Given the description of an element on the screen output the (x, y) to click on. 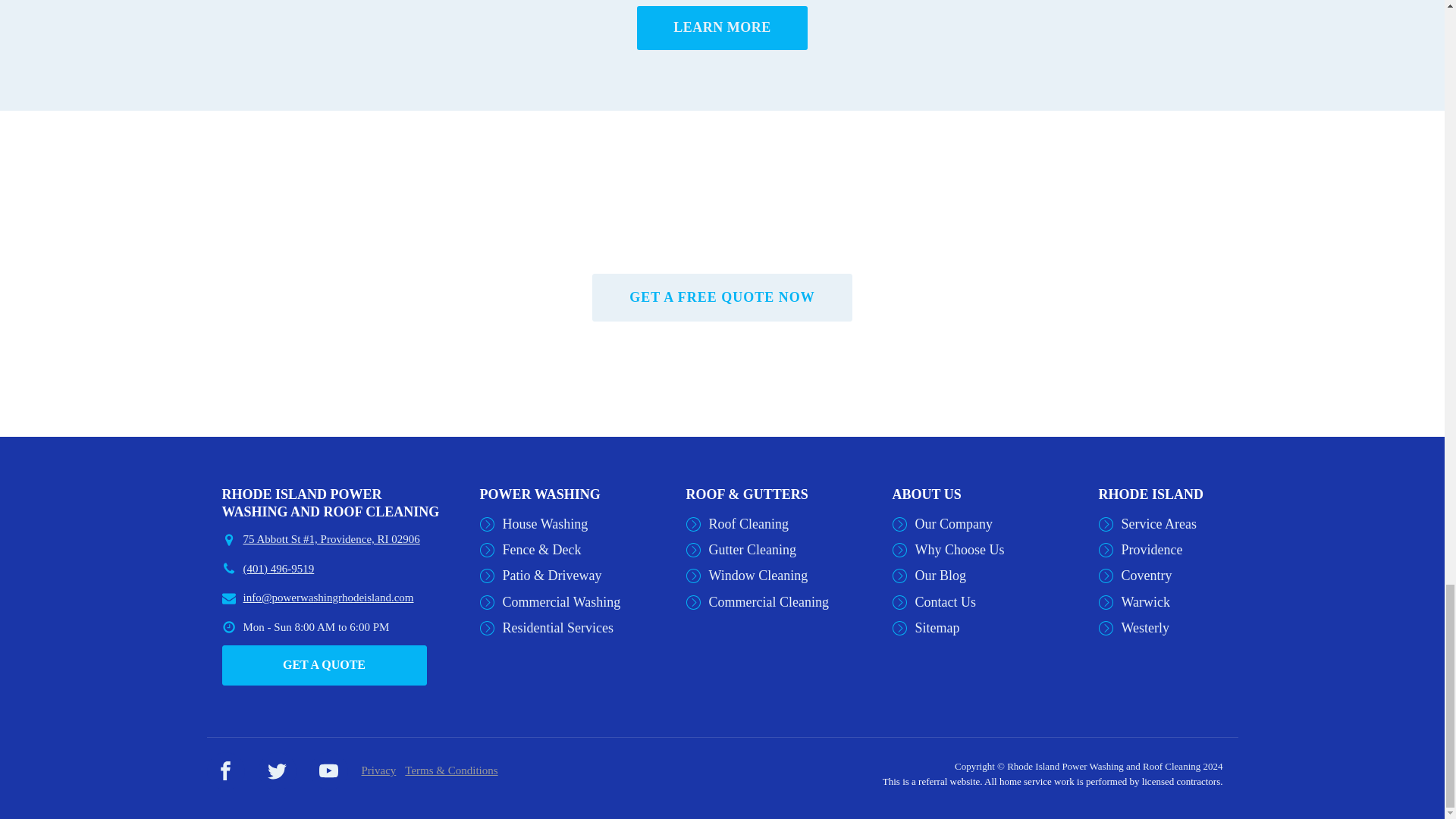
GET A FREE QUOTE NOW (721, 297)
LEARN MORE (722, 27)
GET A QUOTE (323, 664)
